Given the description of an element on the screen output the (x, y) to click on. 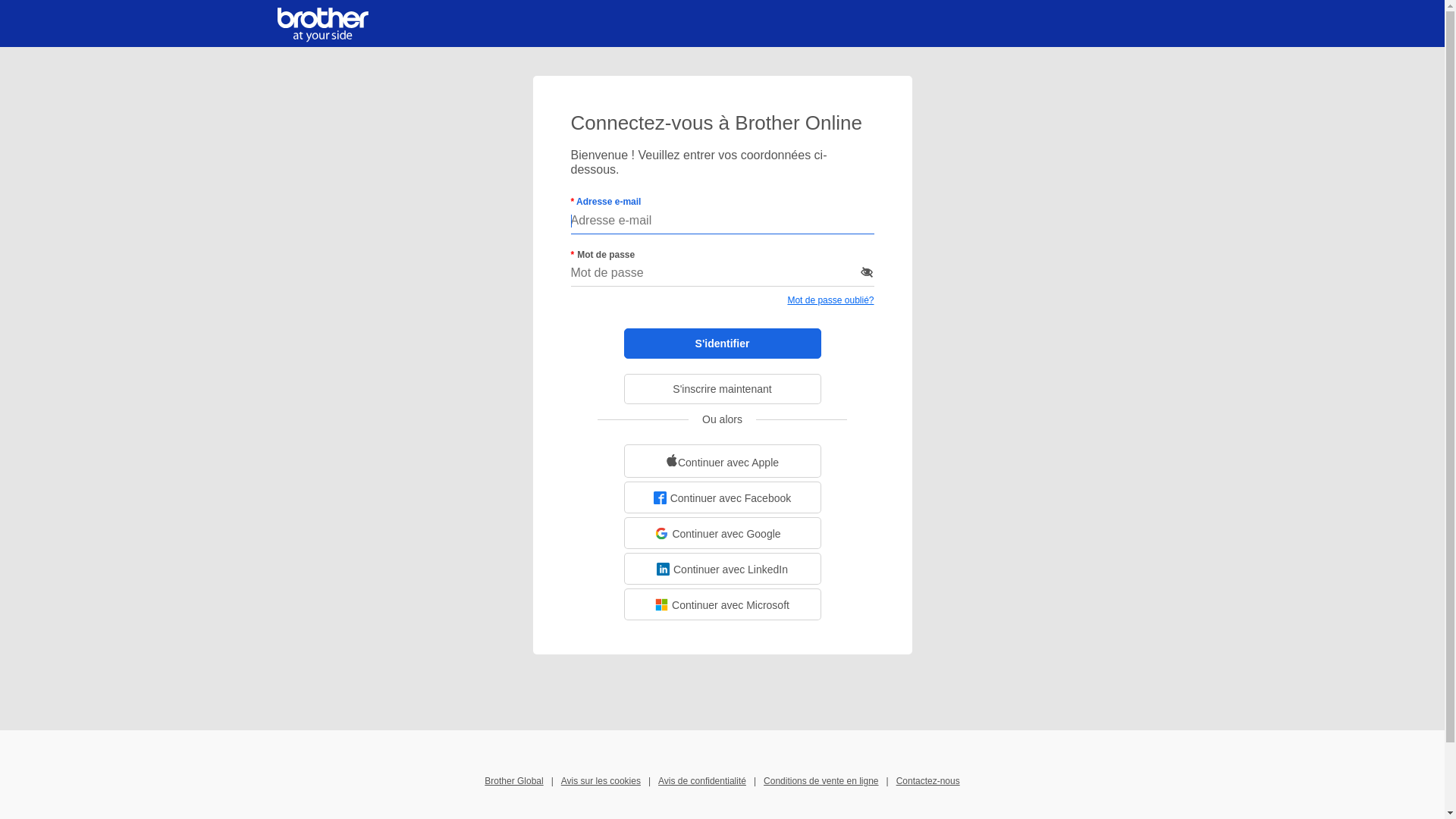
Conditions de vente en ligne Element type: text (820, 780)
S'identifier Element type: text (721, 343)
Continuer avec Google Element type: text (721, 533)
Brother Global Element type: text (513, 780)
S'inscrire maintenant Element type: text (721, 388)
Continuer avec LinkedIn Element type: text (721, 568)
Entrez une valeur Adresse e-mail valide Element type: hover (721, 220)
Contactez-nous Element type: text (928, 780)
MS-SymbolLockupContinuer avec Microsoft Element type: text (721, 604)
Continuer avec Apple Element type: text (721, 460)
Continuer avec Facebook Element type: text (721, 497)
Avis sur les cookies Element type: text (600, 780)
